Given the description of an element on the screen output the (x, y) to click on. 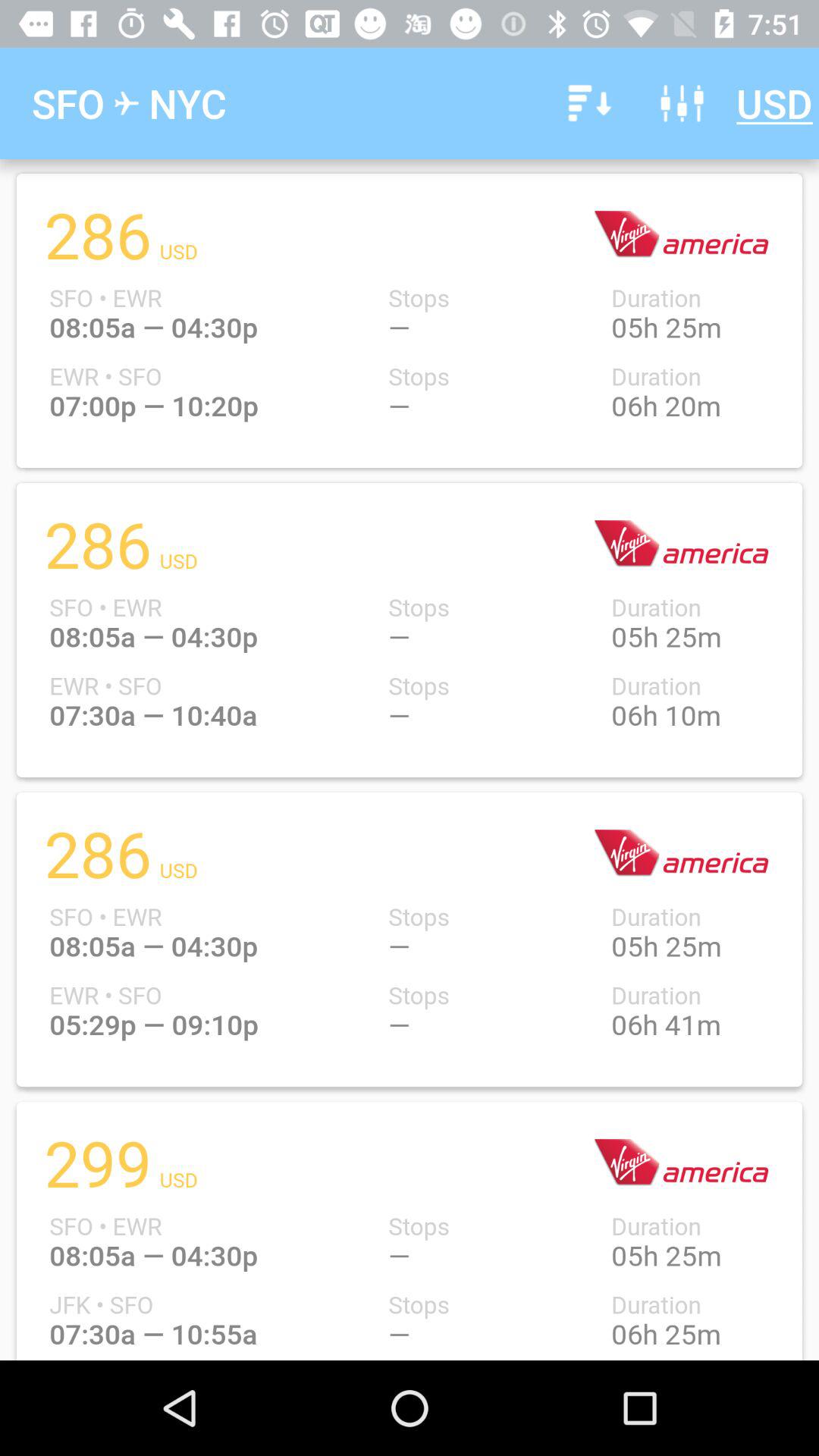
open the item next to the nyc item (586, 103)
